Given the description of an element on the screen output the (x, y) to click on. 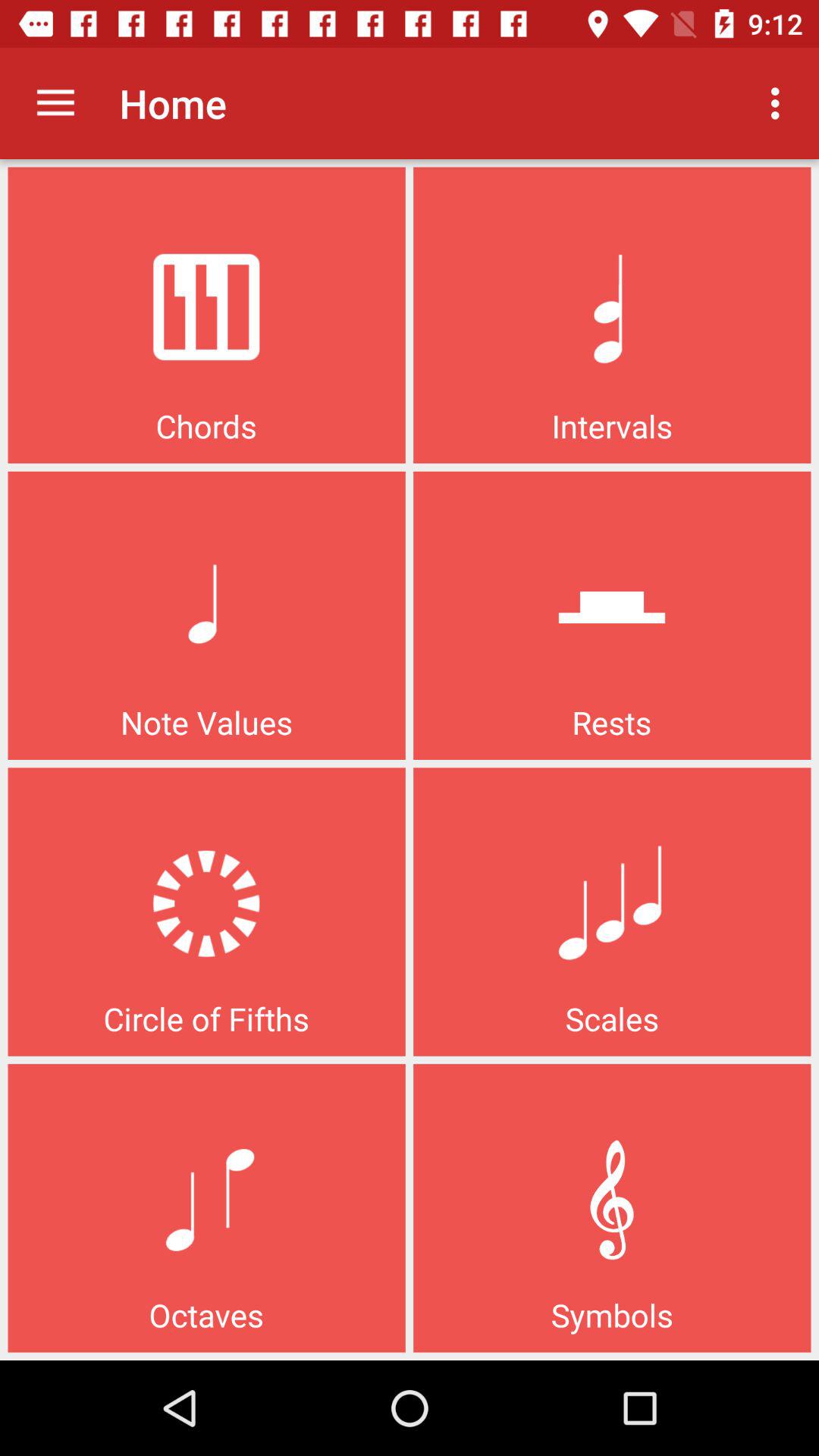
tap the item to the right of the home app (779, 103)
